Given the description of an element on the screen output the (x, y) to click on. 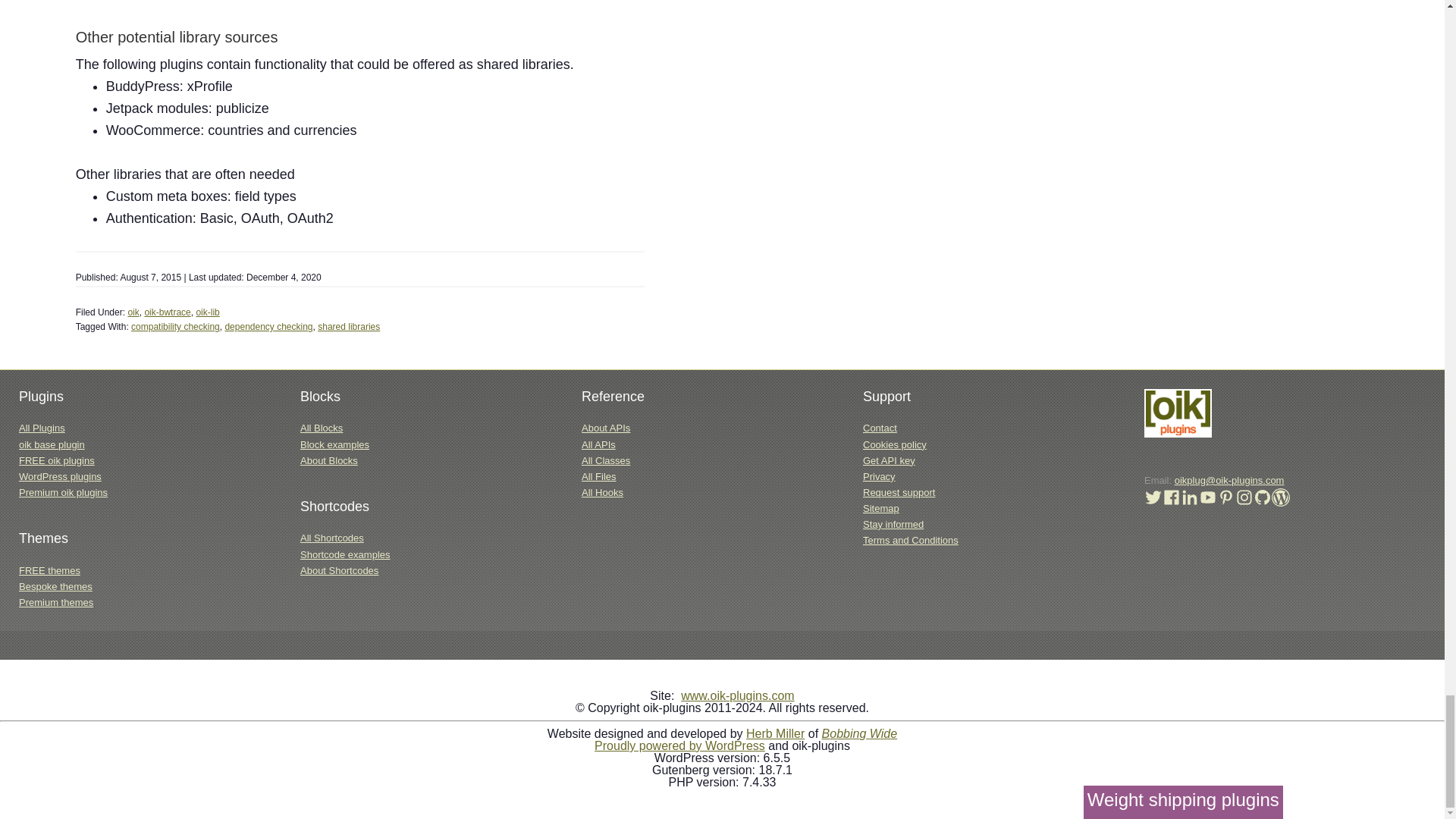
Follow Herb Miller on Facebook (1170, 502)
oik-plugins (1177, 413)
oik-plugins (1177, 433)
Follow Herb Miller on Twitter (1152, 502)
